Given the description of an element on the screen output the (x, y) to click on. 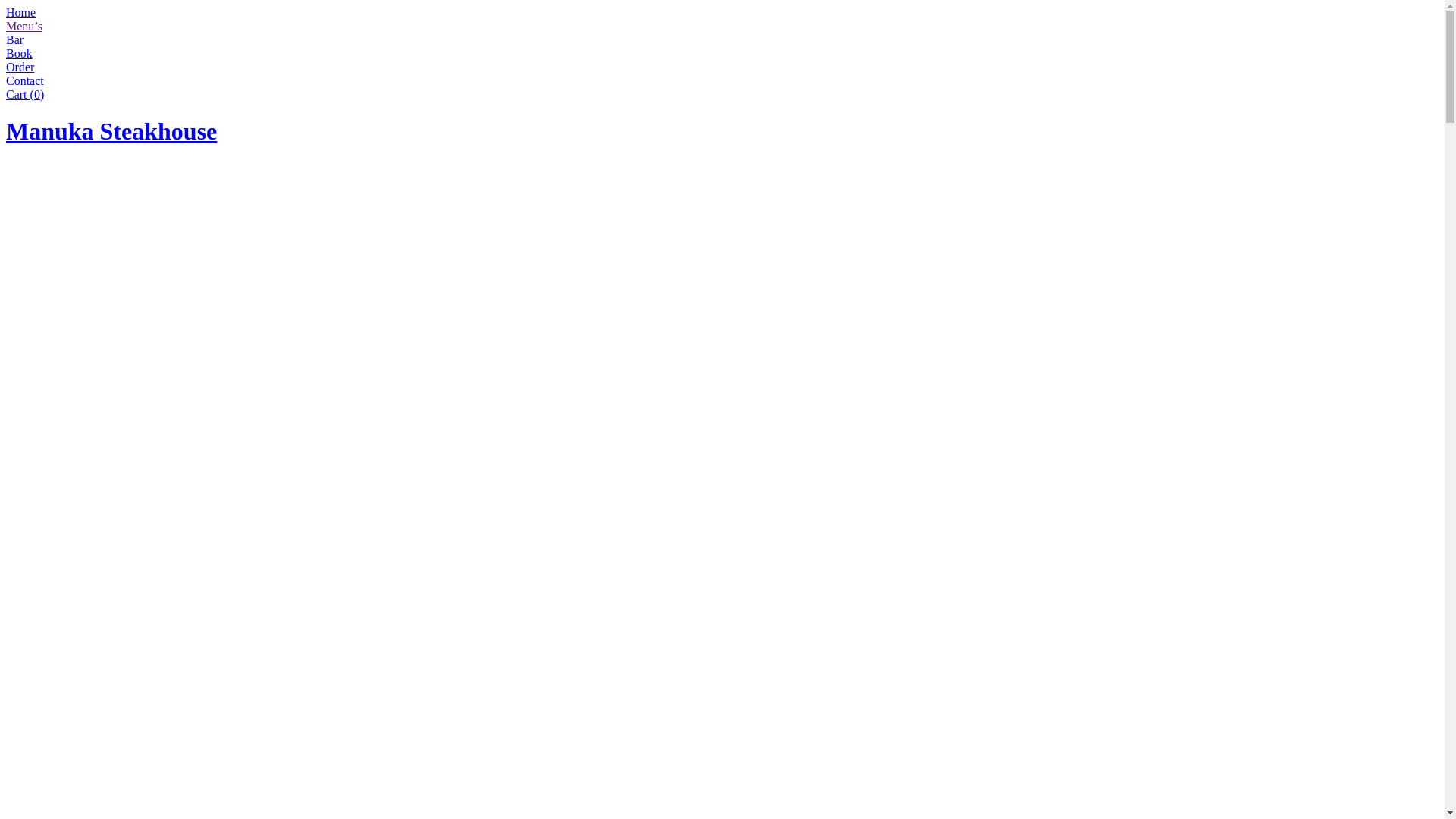
Book Element type: text (19, 53)
Cart (0) Element type: text (24, 93)
Bar Element type: text (14, 39)
Home Element type: text (20, 12)
Order Element type: text (20, 66)
Manuka Steakhouse Element type: text (111, 130)
Contact Element type: text (24, 80)
